Given the description of an element on the screen output the (x, y) to click on. 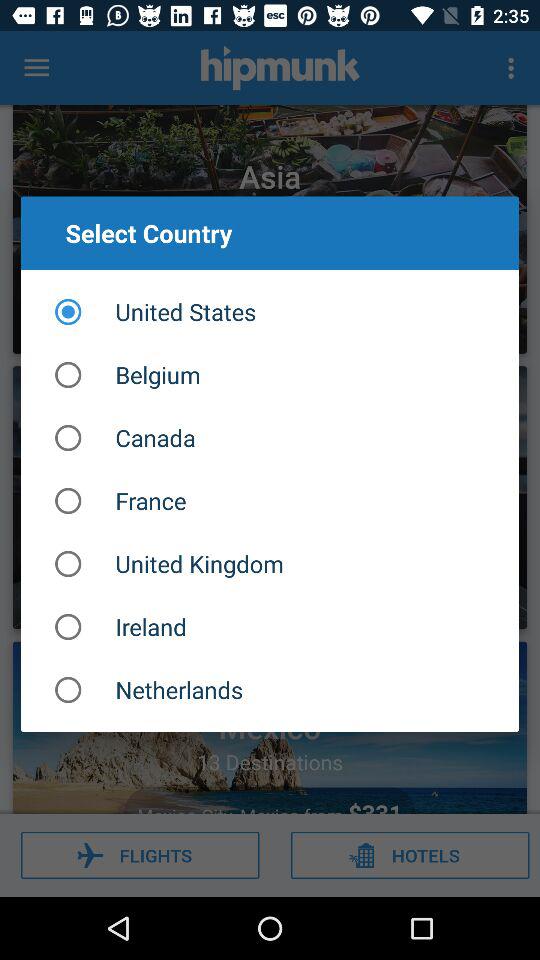
select the netherlands icon (270, 689)
